Given the description of an element on the screen output the (x, y) to click on. 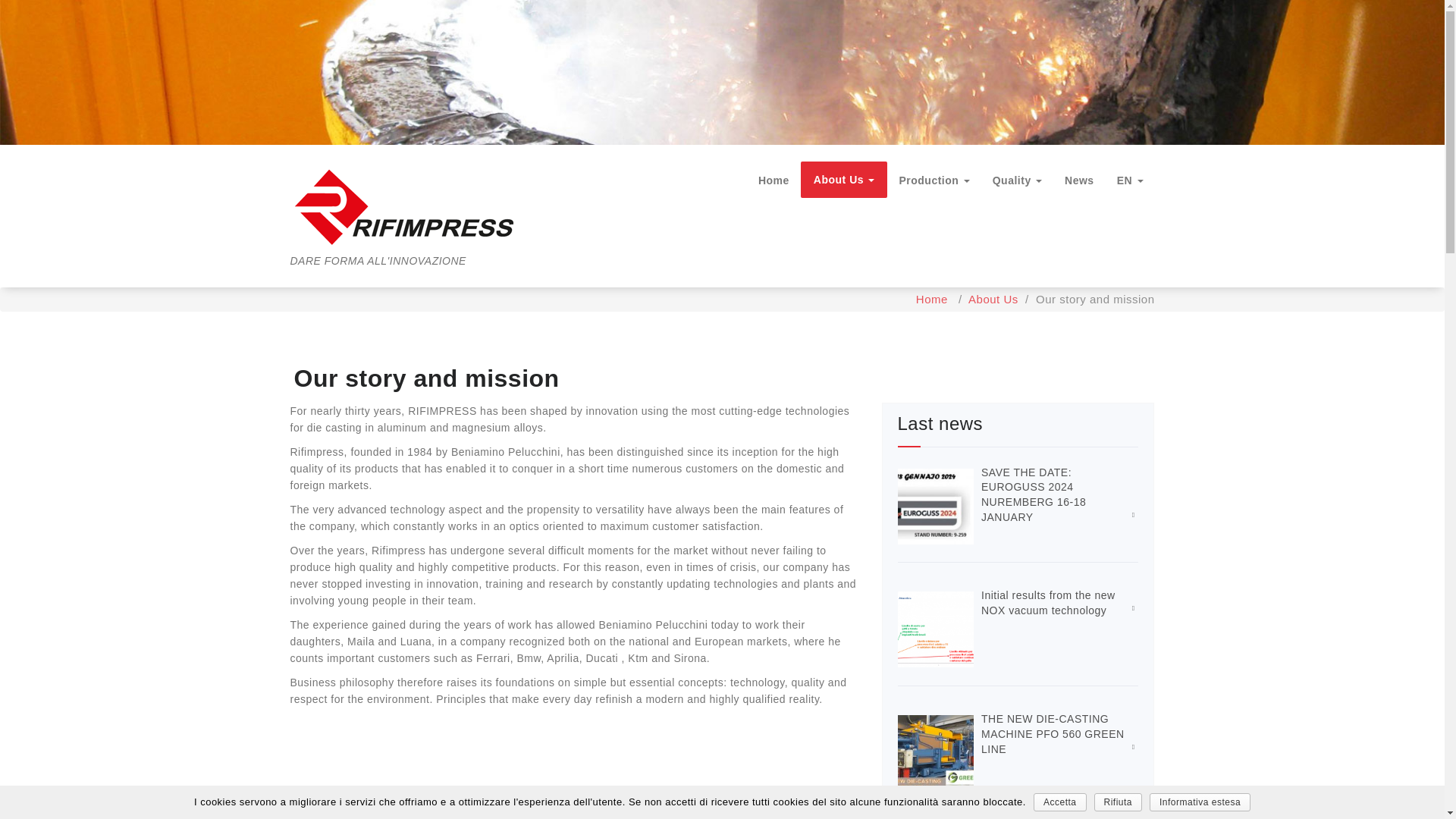
Home (773, 179)
THE NEW DIE-CASTING MACHINE PFO 560 GREEN LINE (1052, 733)
SAVE THE DATE: EUROGUSS 2024 NUREMBERG 16-18 JANUARY (1033, 494)
Quality (1016, 179)
Home (931, 298)
Production (932, 179)
About Us (844, 178)
Initial results from the new NOX vacuum technology (1048, 602)
About Us (992, 298)
